Given the description of an element on the screen output the (x, y) to click on. 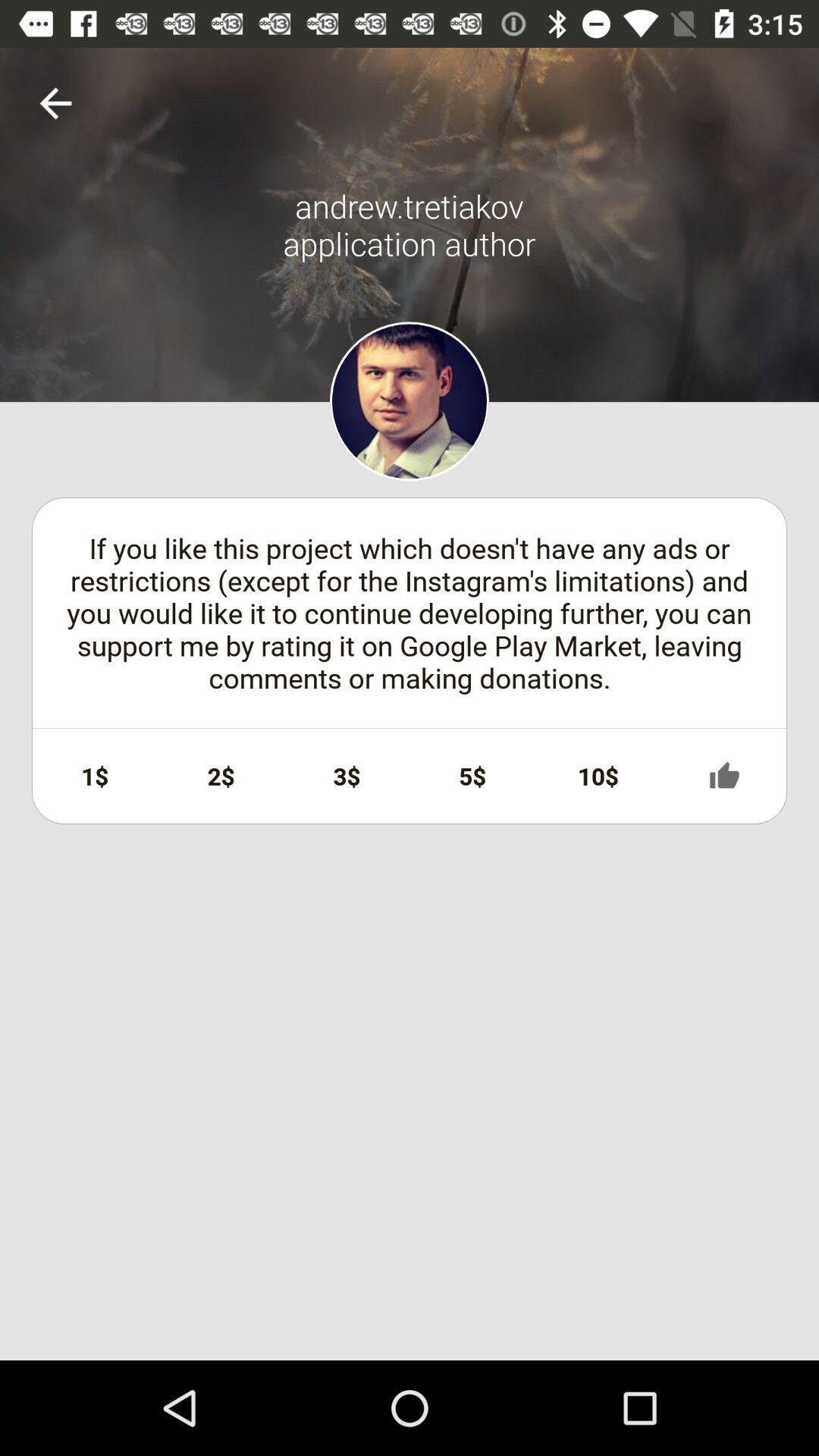
launch item to the left of the 10$ item (472, 776)
